Given the description of an element on the screen output the (x, y) to click on. 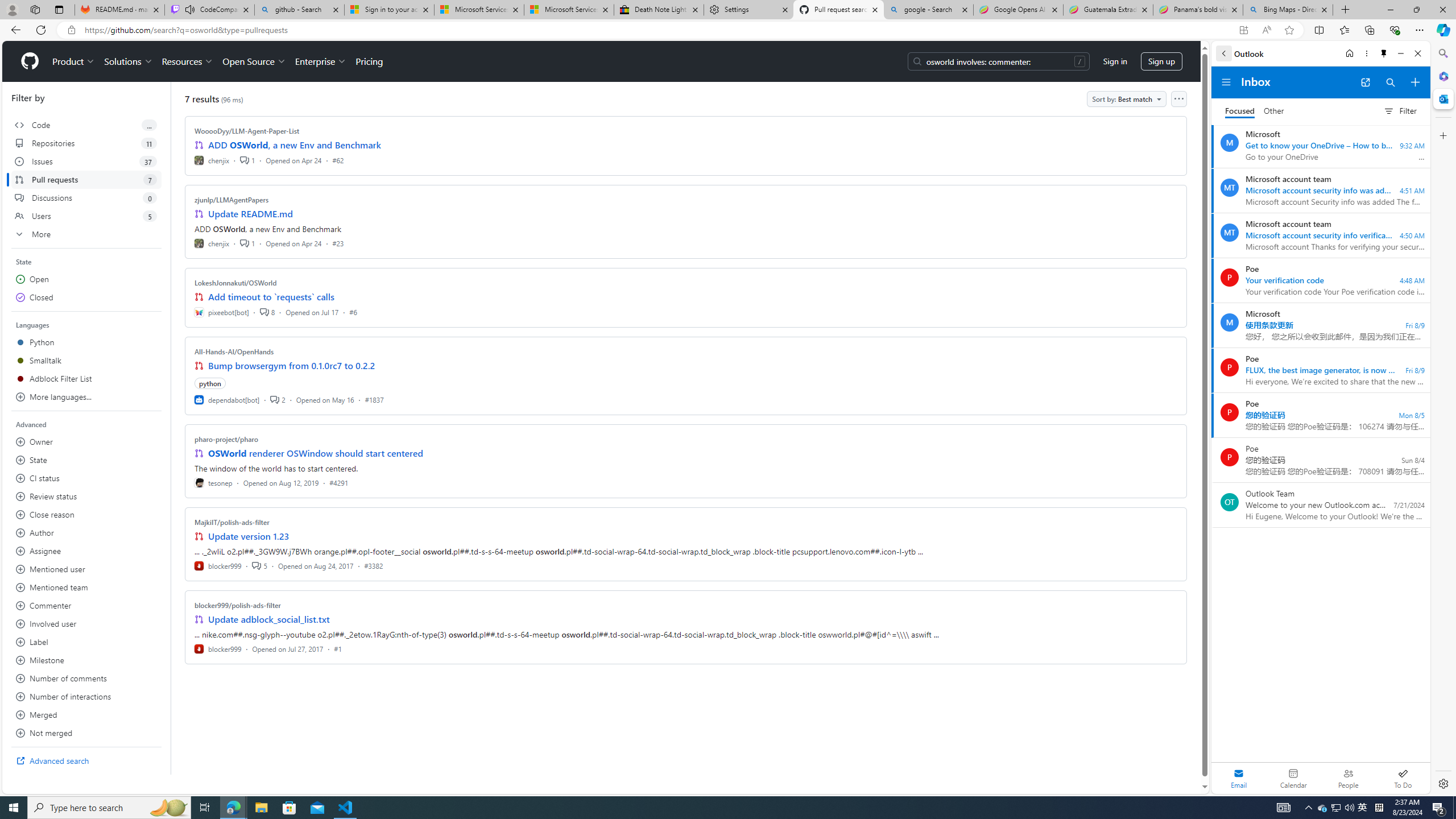
tesonep (213, 482)
#1 (337, 648)
OSWorld renderer OSWindow should start centered (315, 453)
Folder navigation (1225, 82)
Focused Inbox, toggle to go to Other Inbox (1254, 110)
Advanced search (86, 760)
#4291 (338, 482)
